Given the description of an element on the screen output the (x, y) to click on. 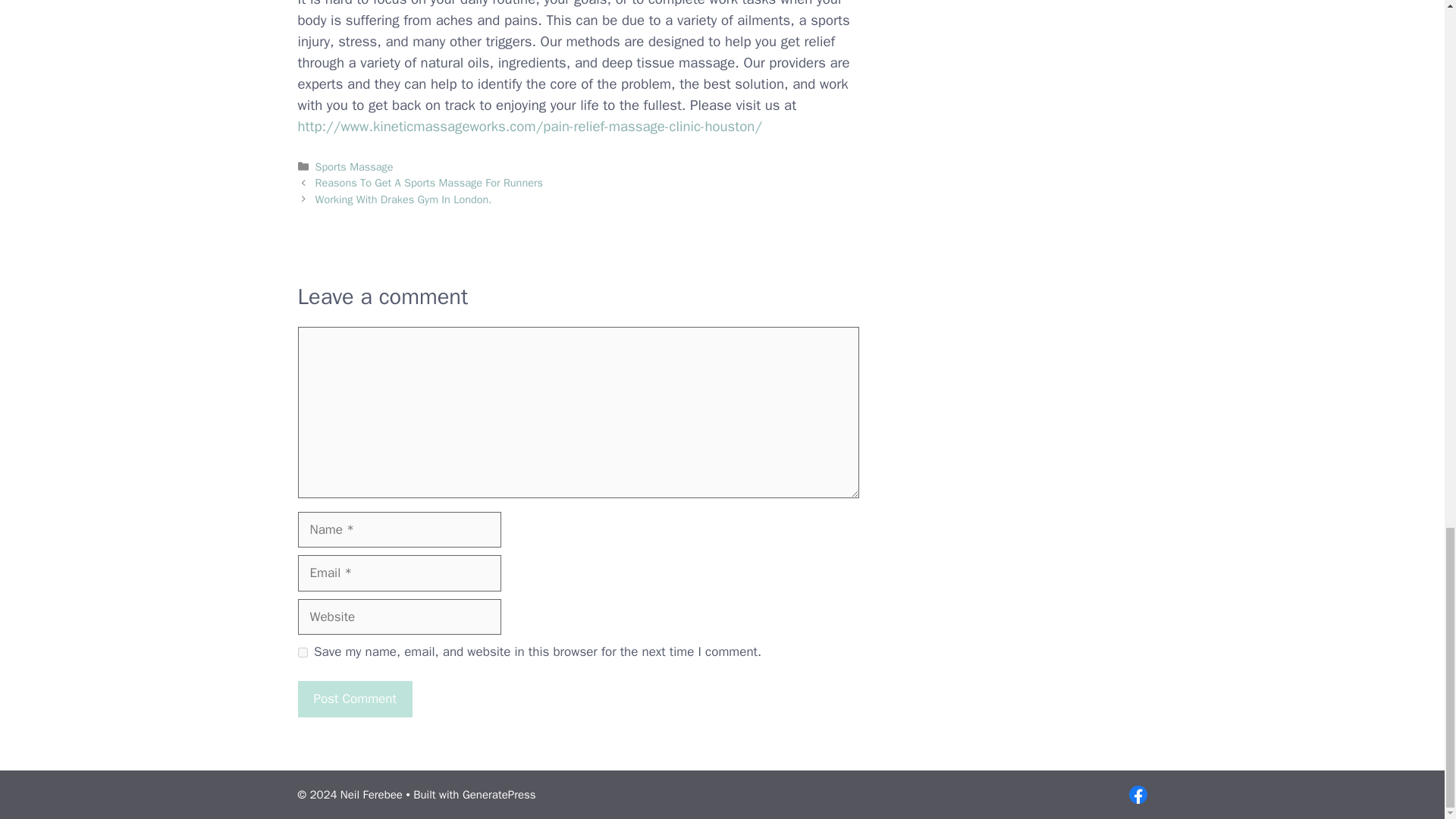
Post Comment (354, 698)
Working With Drakes Gym In London. (403, 199)
Sports Massage (354, 166)
Post Comment (354, 698)
yes (302, 652)
Reasons To Get A Sports Massage For Runners (429, 182)
